Given the description of an element on the screen output the (x, y) to click on. 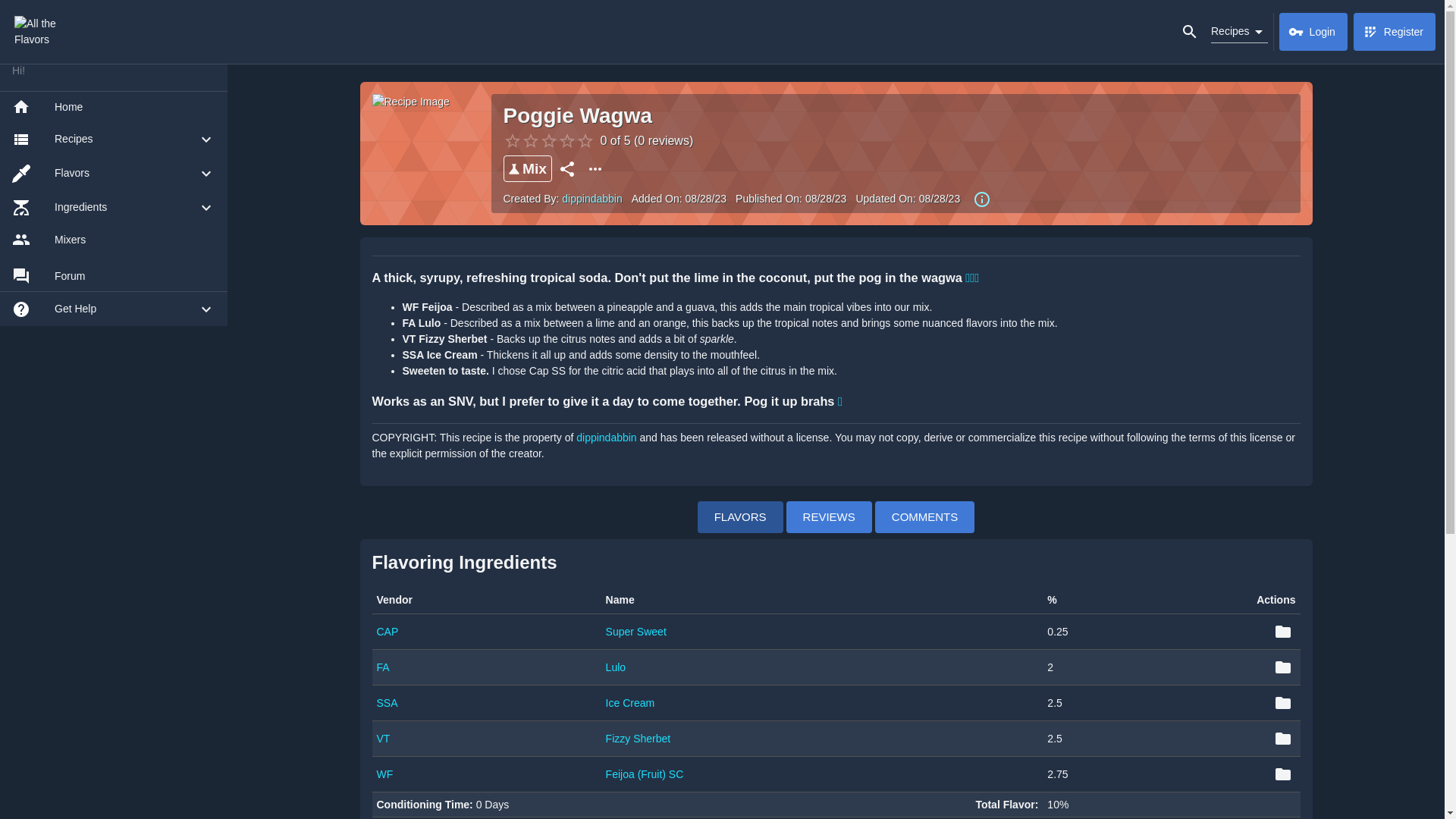
Ice Cream (630, 702)
FA (381, 666)
dippindabbin (607, 437)
Fizzy Sherbet (638, 738)
WF (384, 774)
dippindabbin (591, 198)
VT (382, 738)
Register (1394, 31)
Super Sweet (635, 631)
Forum (113, 276)
